Given the description of an element on the screen output the (x, y) to click on. 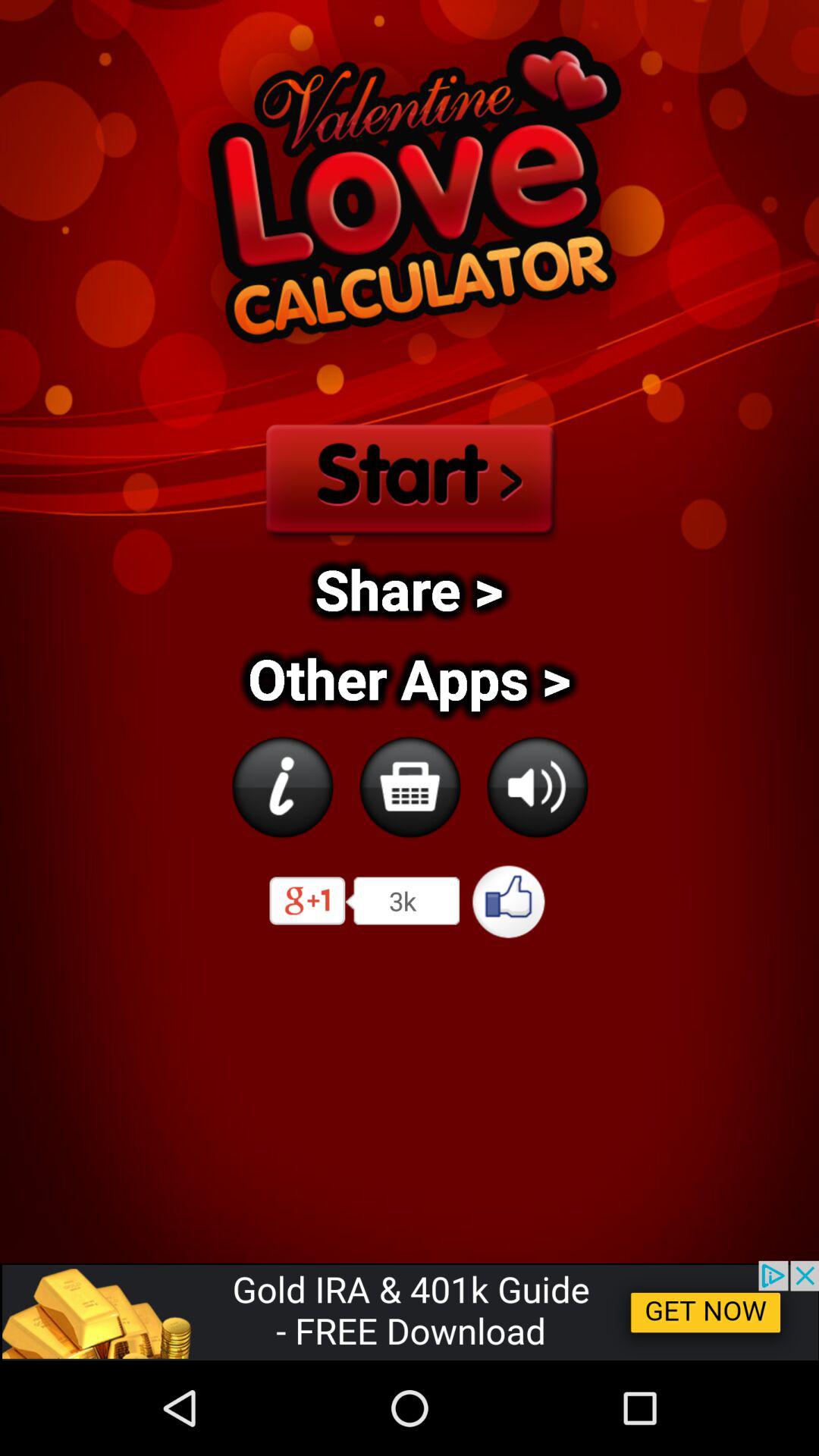
toggle autoplay option (281, 786)
